Given the description of an element on the screen output the (x, y) to click on. 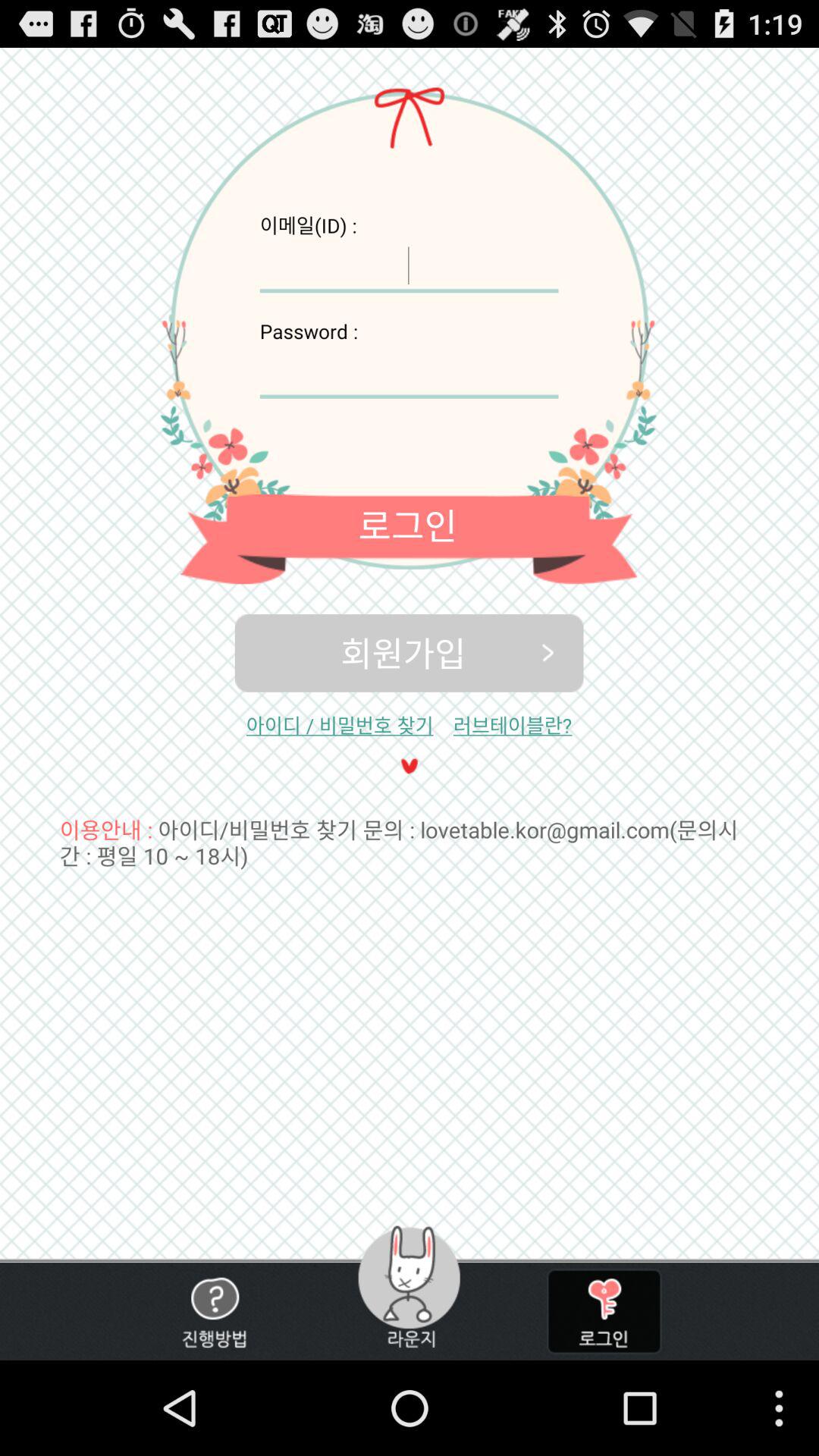
enter user id (408, 265)
